Given the description of an element on the screen output the (x, y) to click on. 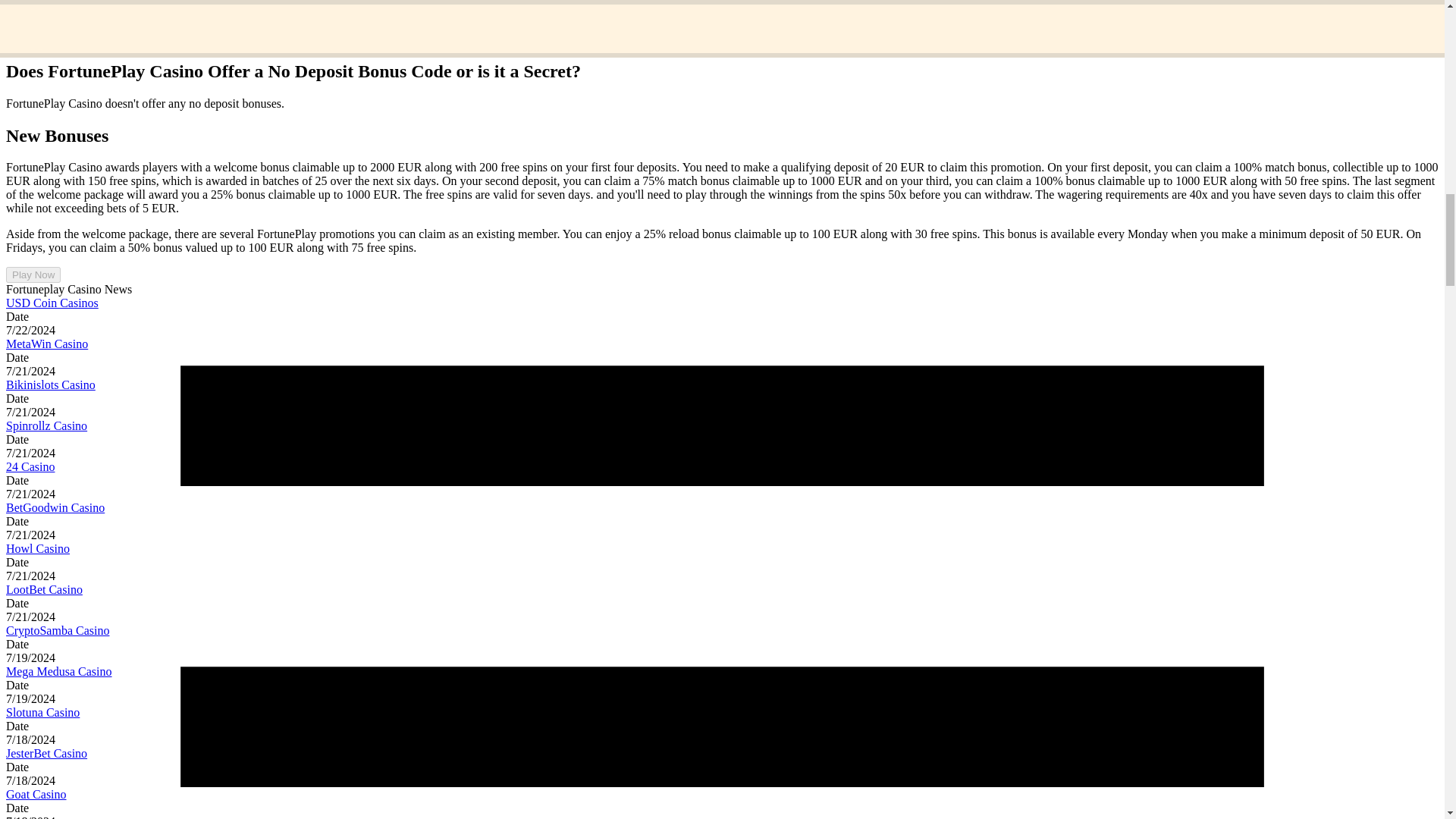
Slotuna Casino (42, 712)
Mega Medusa Casino (58, 671)
Play Now (33, 274)
Goat Casino (35, 793)
USD Coin Casinos (52, 302)
Bikinislots Casino (50, 384)
MetaWin Casino (46, 343)
Howl Casino (37, 548)
CryptoSamba Casino (57, 630)
JesterBet Casino (46, 753)
Spinrollz Casino (46, 425)
24 Casino (30, 466)
BetGoodwin Casino (54, 507)
LootBet Casino (43, 589)
